Given the description of an element on the screen output the (x, y) to click on. 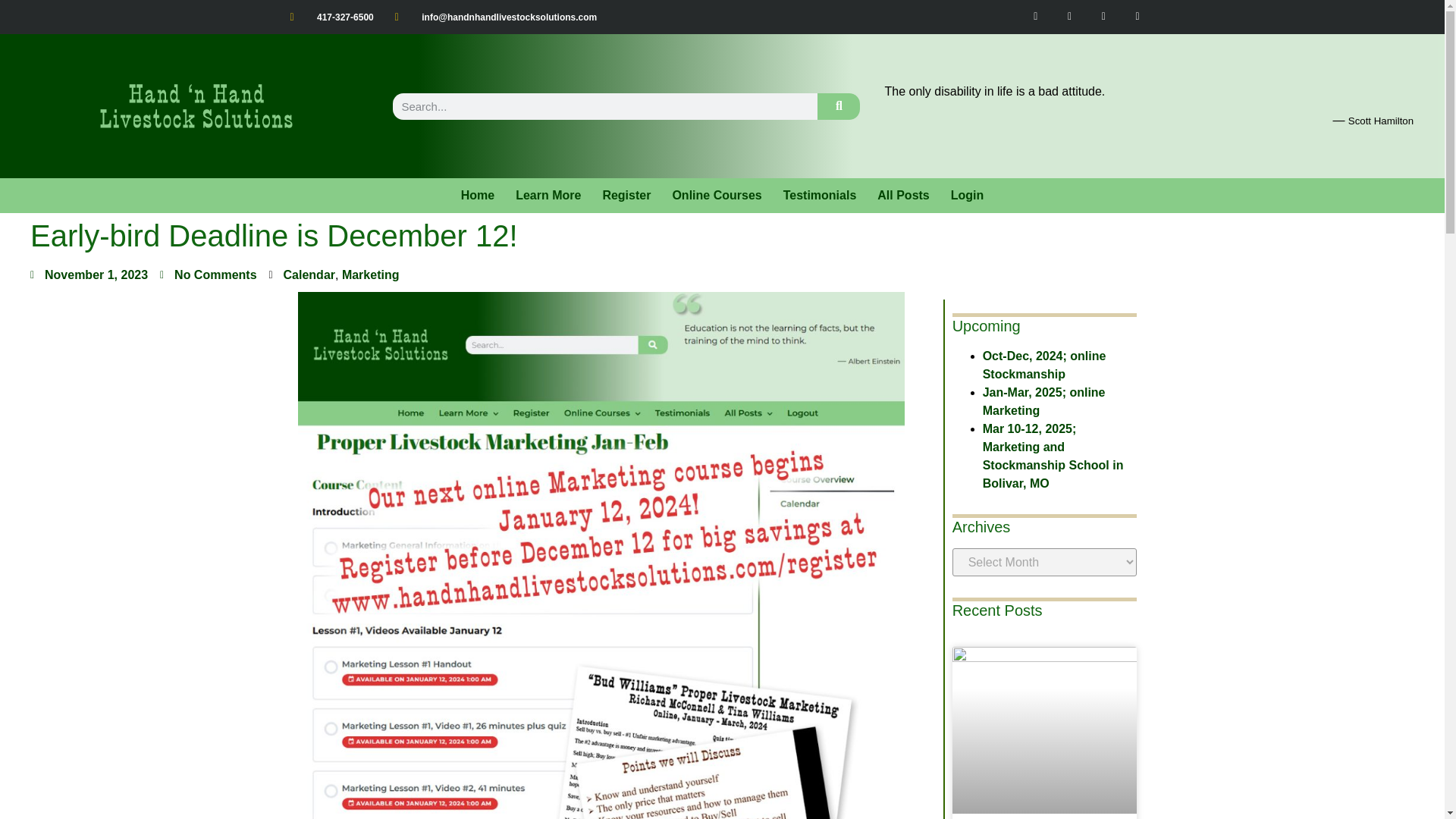
417-327-6500 (330, 17)
Register (626, 195)
Online Courses (716, 195)
Learn More (548, 195)
Testimonials (820, 195)
Home (477, 195)
All Posts (902, 195)
